Given the description of an element on the screen output the (x, y) to click on. 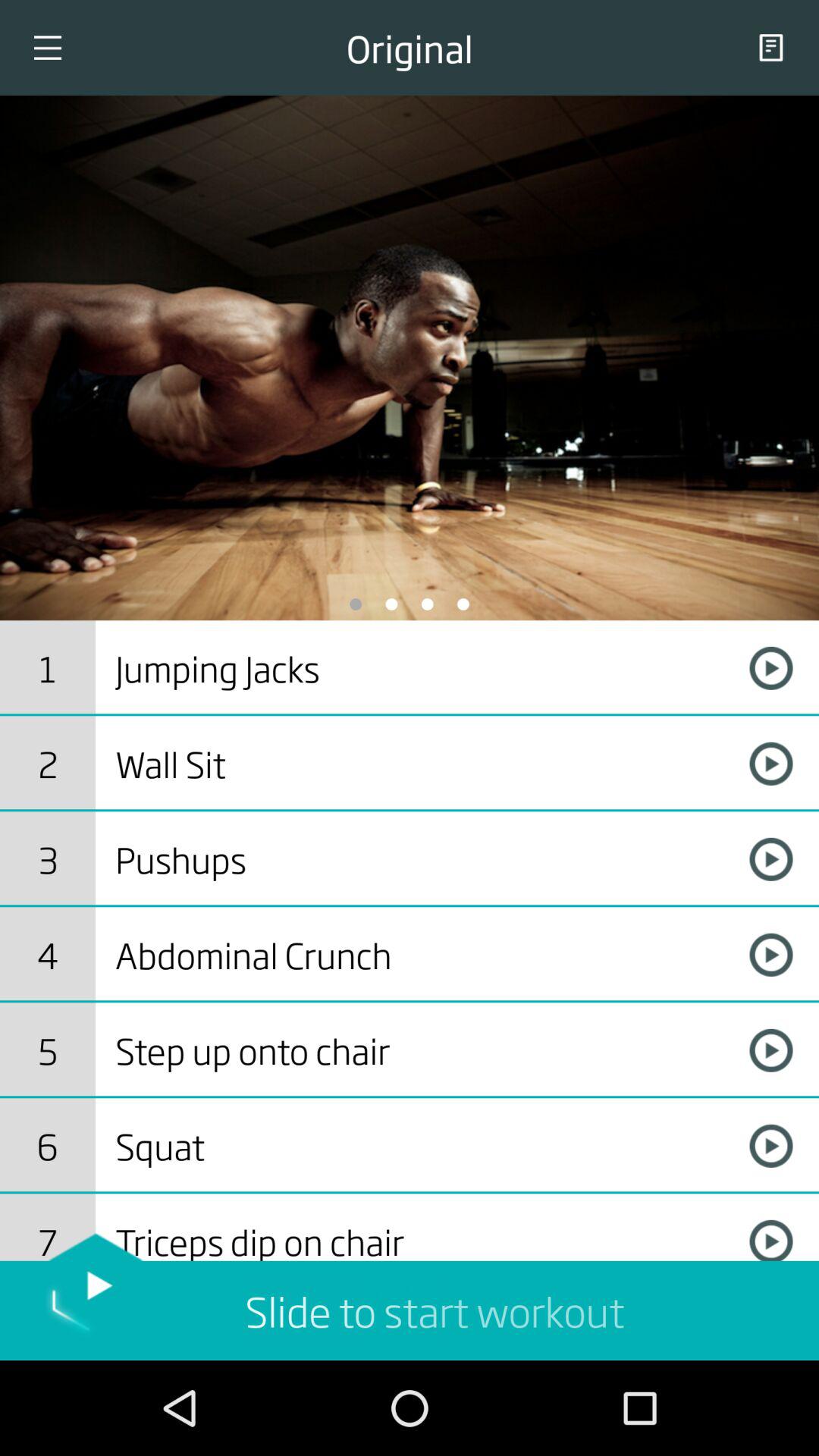
incorrect bounding box (419, 955)
click on play icon right to wall sit (771, 763)
select the text which is in the 6th row (419, 1145)
